Given the description of an element on the screen output the (x, y) to click on. 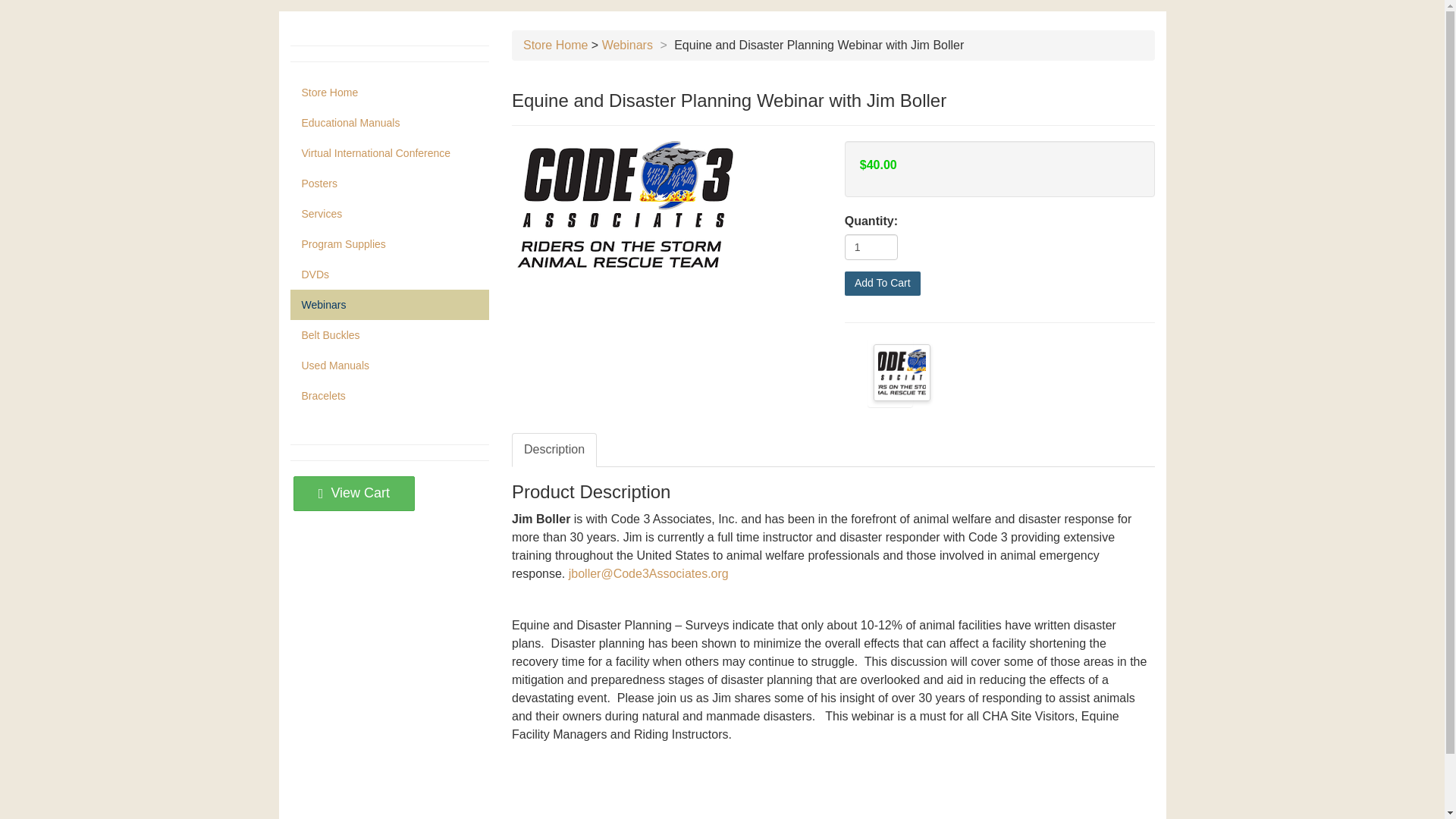
Services (389, 214)
Virtual International Conference (389, 153)
  View Cart (354, 492)
Description (554, 449)
1 (871, 247)
Webinars (627, 44)
Add To Cart (882, 283)
Store Home (555, 44)
Webinars (389, 304)
Program Supplies (389, 244)
